Given the description of an element on the screen output the (x, y) to click on. 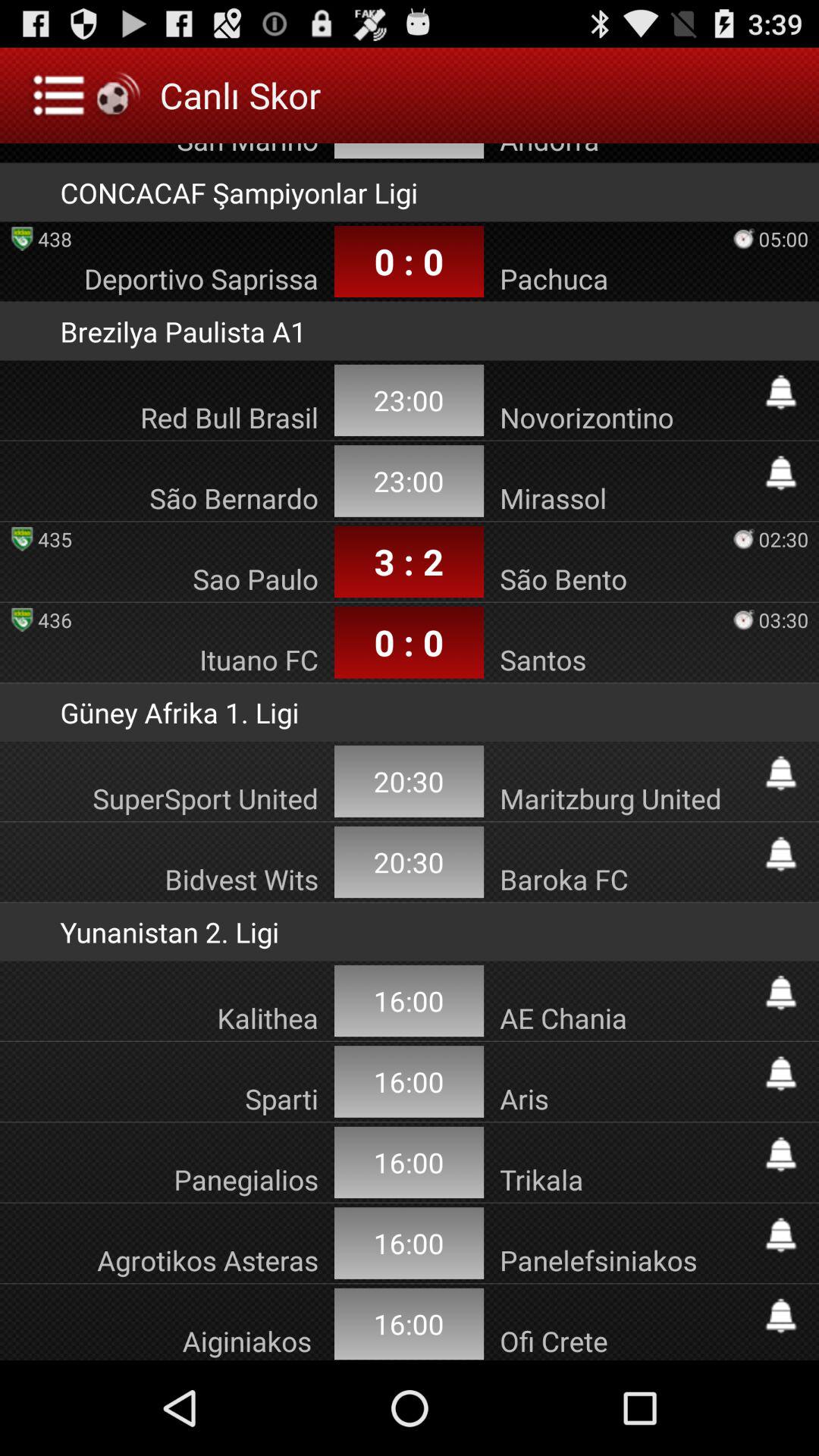
notification (780, 854)
